Given the description of an element on the screen output the (x, y) to click on. 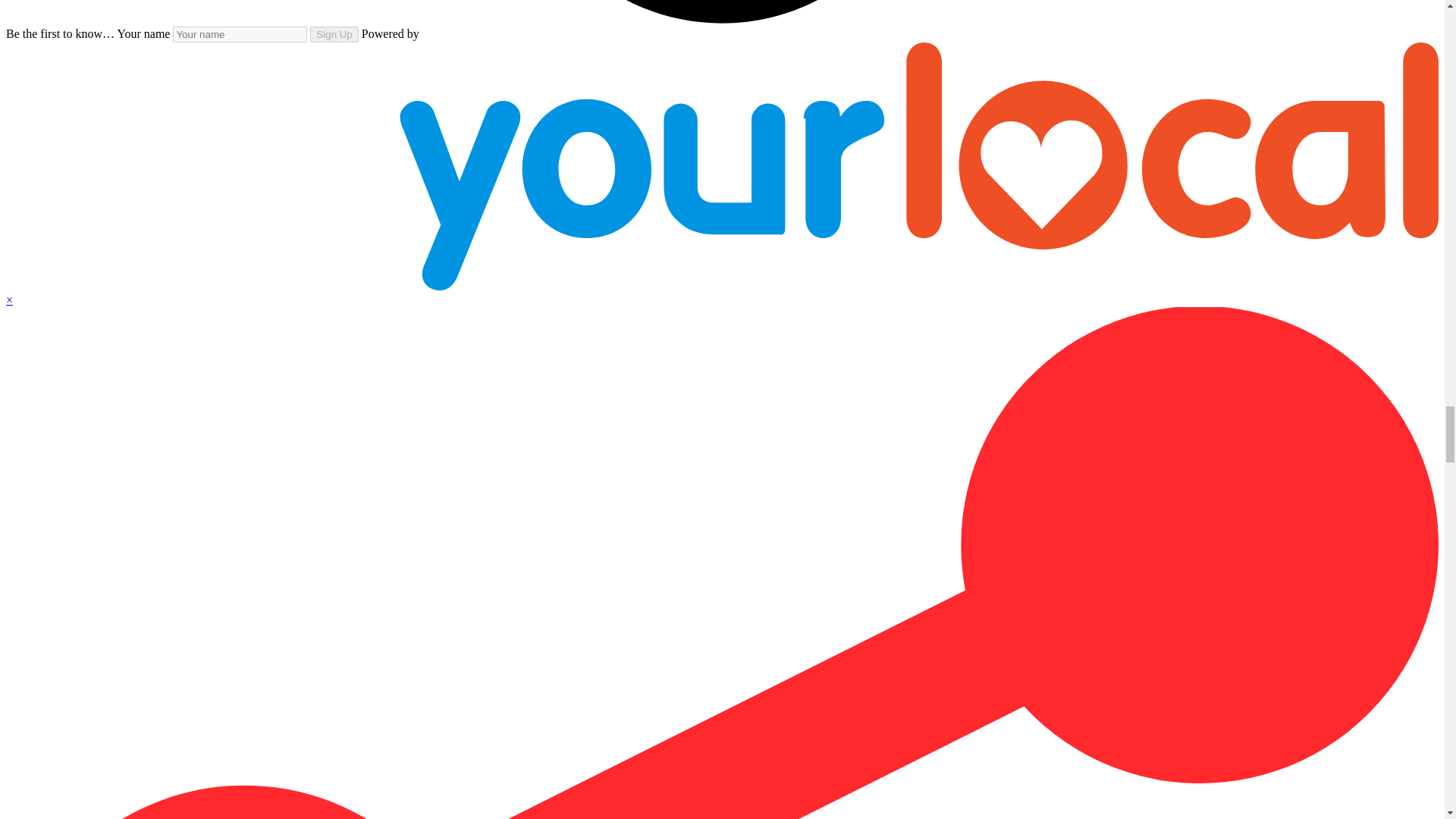
Sign Up (334, 34)
